Given the description of an element on the screen output the (x, y) to click on. 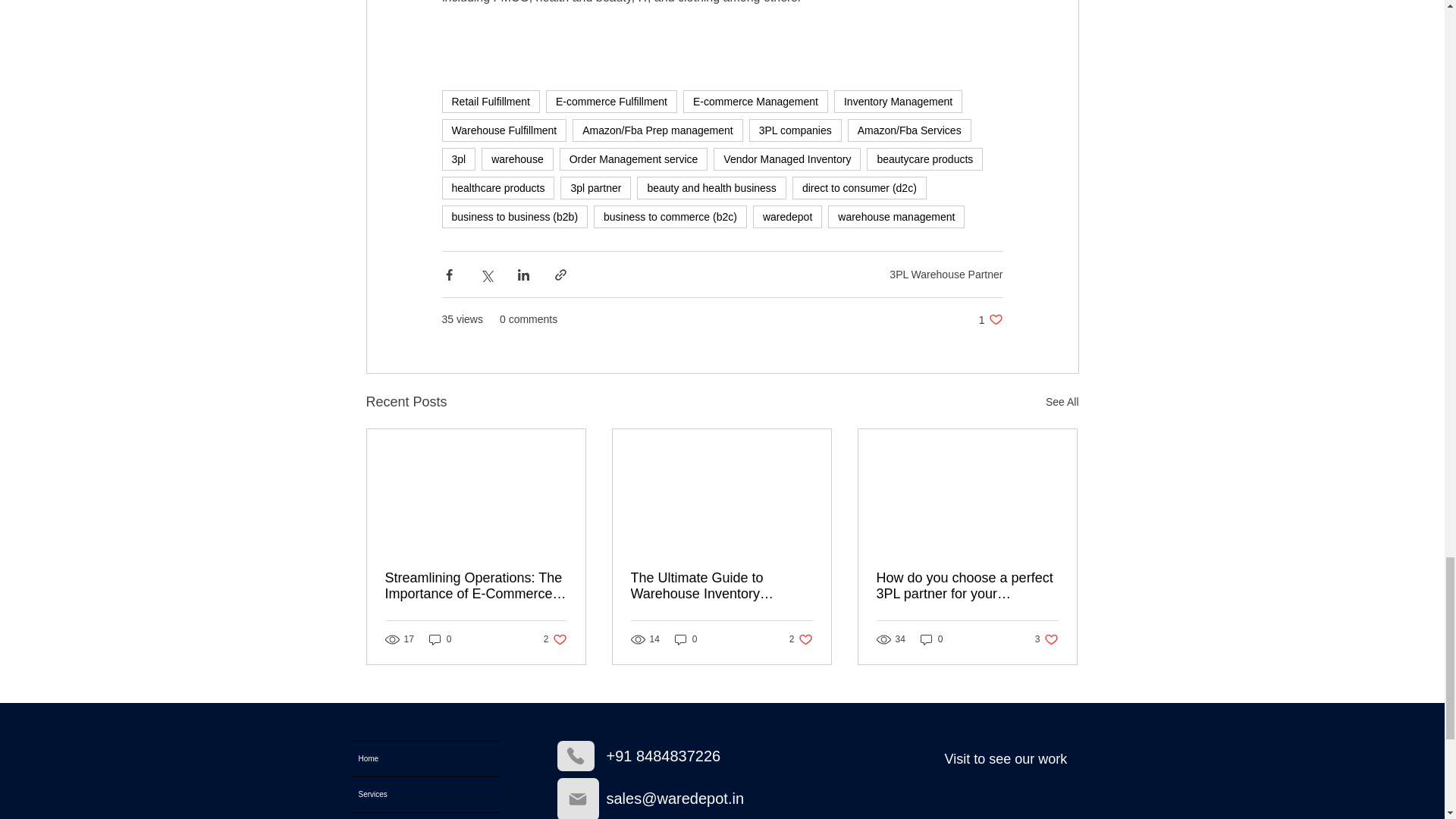
E-commerce Management (755, 101)
beauty and health business (711, 187)
E-commerce Fulfillment (611, 101)
Retail Fulfillment (489, 101)
Warehouse Fulfillment (503, 129)
3pl (458, 159)
3PL companies (795, 129)
beautycare products (924, 159)
Order Management service (633, 159)
Inventory Management (898, 101)
Vendor Managed Inventory (786, 159)
warehouse (517, 159)
waredepot (787, 216)
3pl partner (595, 187)
healthcare products (497, 187)
